Given the description of an element on the screen output the (x, y) to click on. 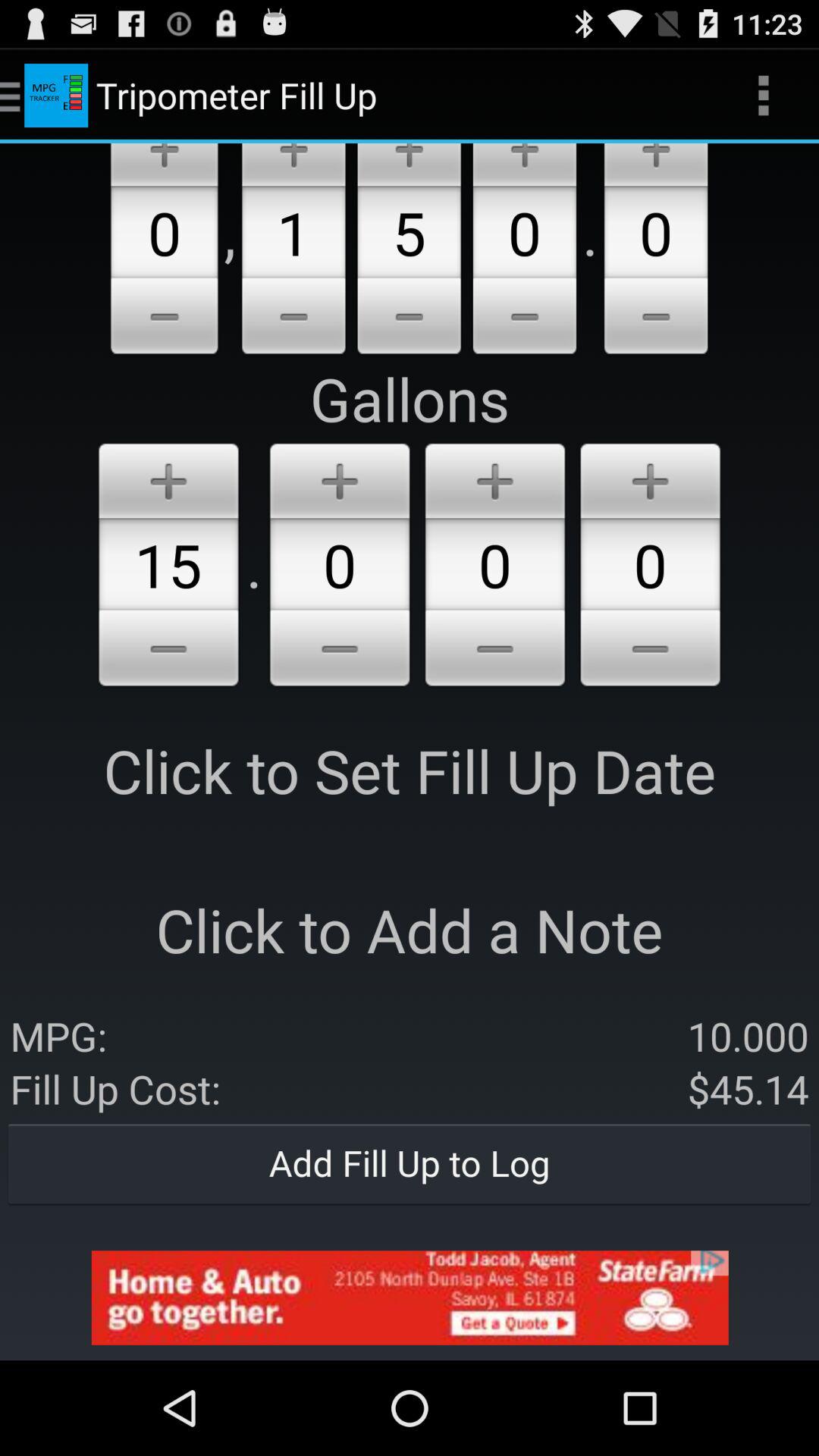
click to increase volume option (168, 478)
